Given the description of an element on the screen output the (x, y) to click on. 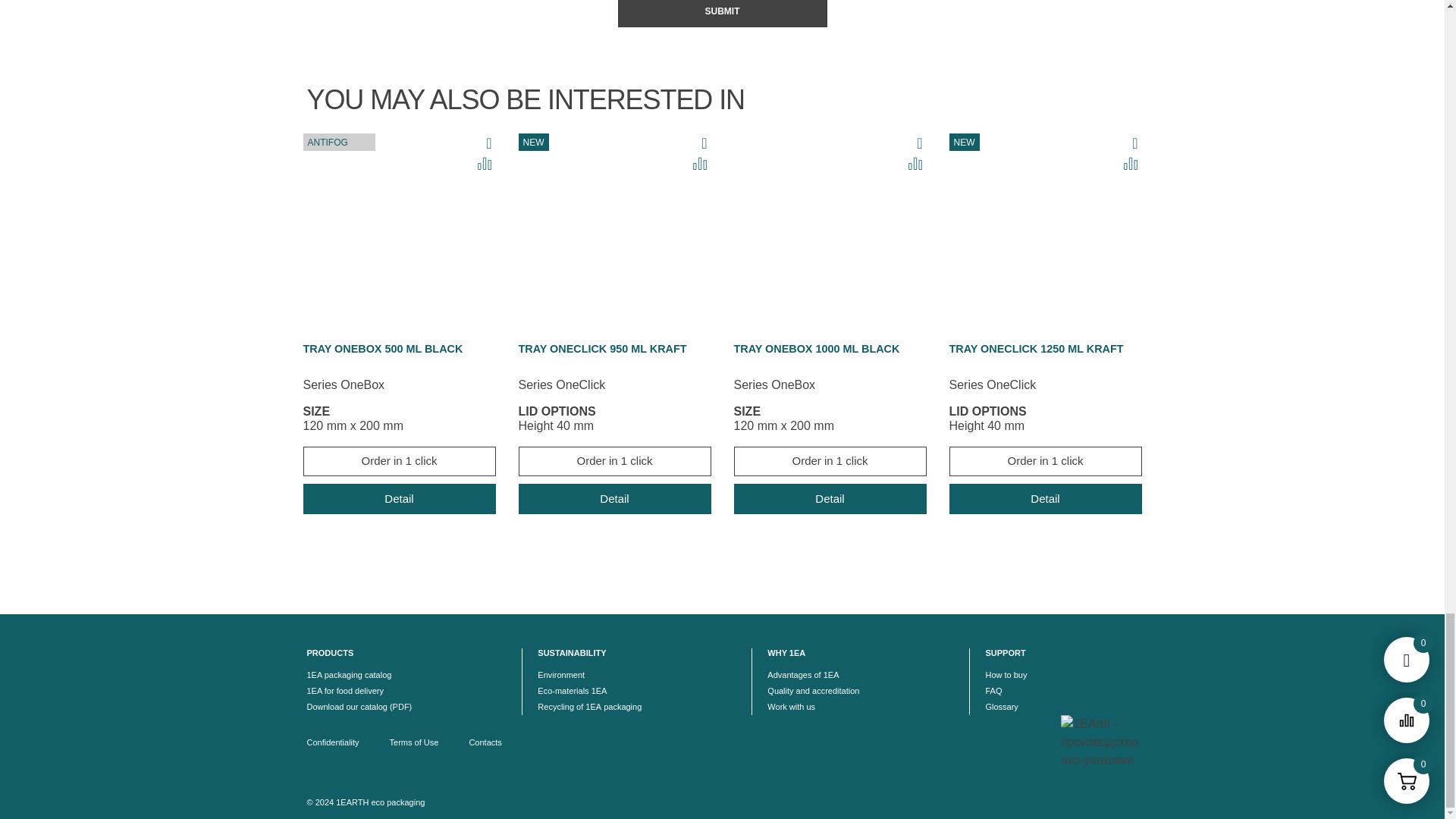
Submit (721, 14)
